Given the description of an element on the screen output the (x, y) to click on. 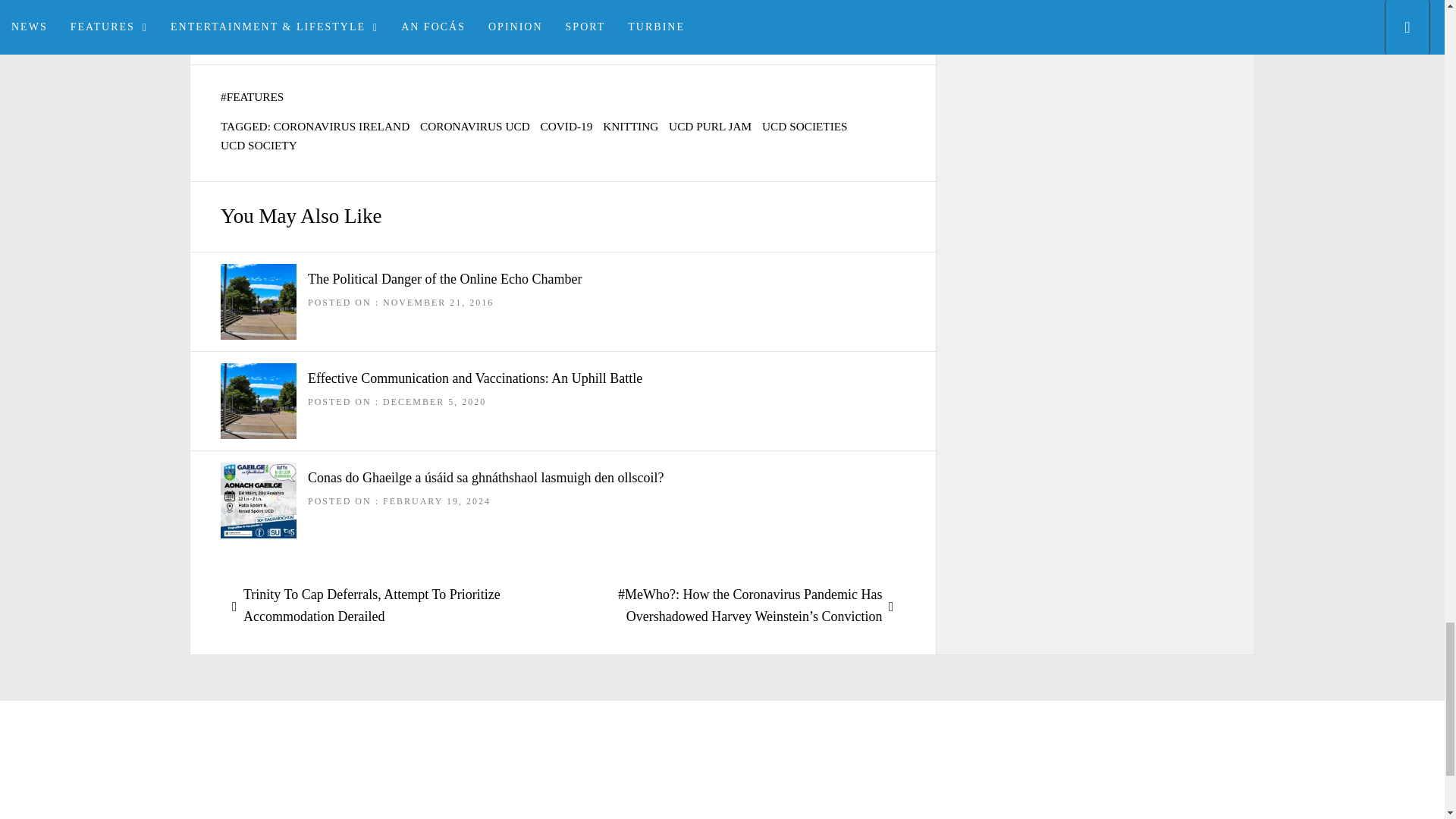
Click to share on Facebook (259, 15)
Click to share on Twitter (447, 15)
Twitter (447, 15)
Facebook (259, 15)
X (322, 15)
Click to share on X (322, 15)
Reddit (380, 15)
Click to share on LinkedIn (521, 15)
Click to share on Reddit (380, 15)
